Given the description of an element on the screen output the (x, y) to click on. 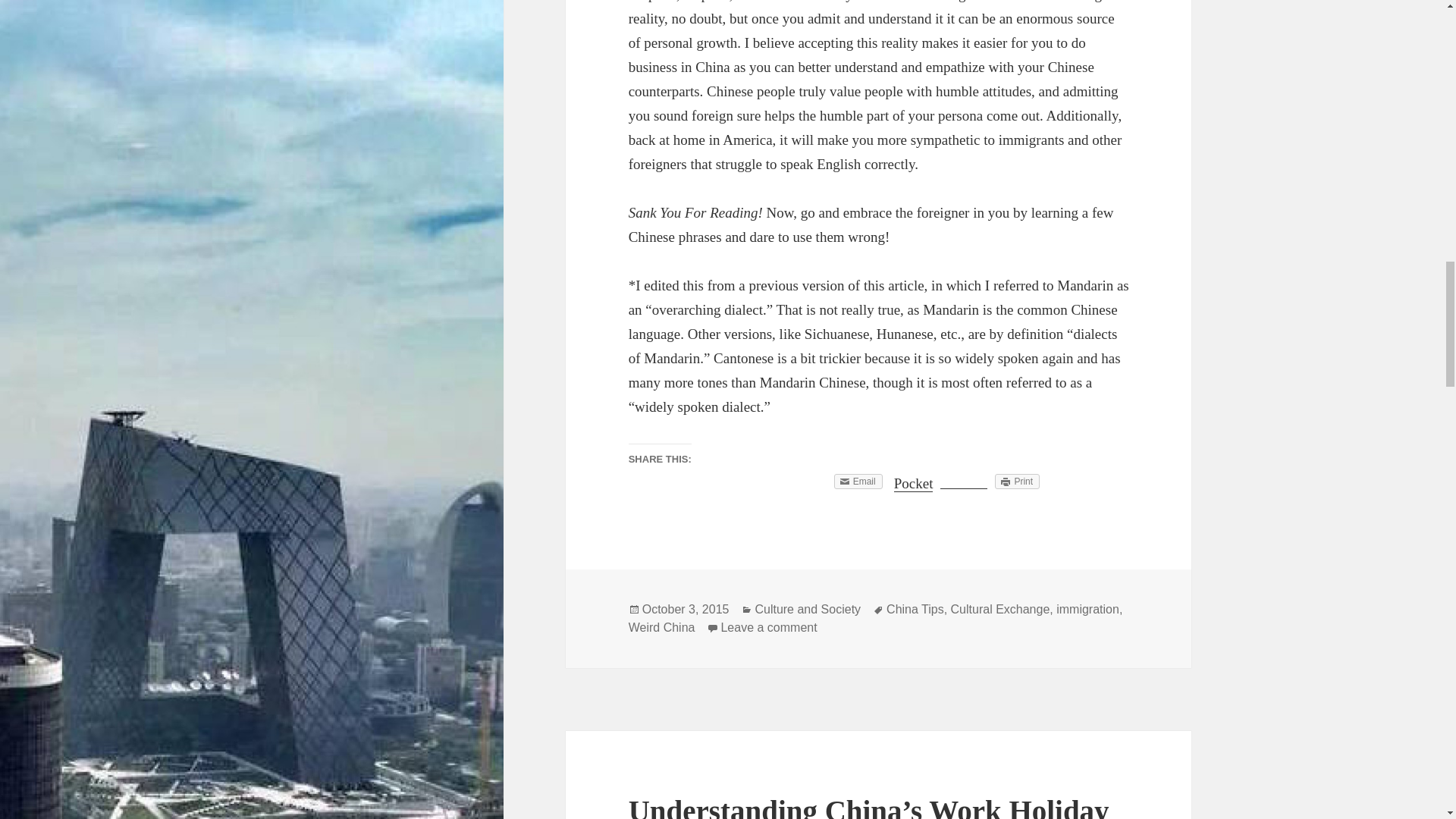
immigration (1088, 609)
Click to print (1016, 481)
Email (858, 481)
Cultural Exchange (999, 609)
Print (1016, 481)
Click to email this to a friend (858, 481)
October 3, 2015 (685, 609)
Pocket (913, 483)
Share on Tumblr (963, 481)
